Given the description of an element on the screen output the (x, y) to click on. 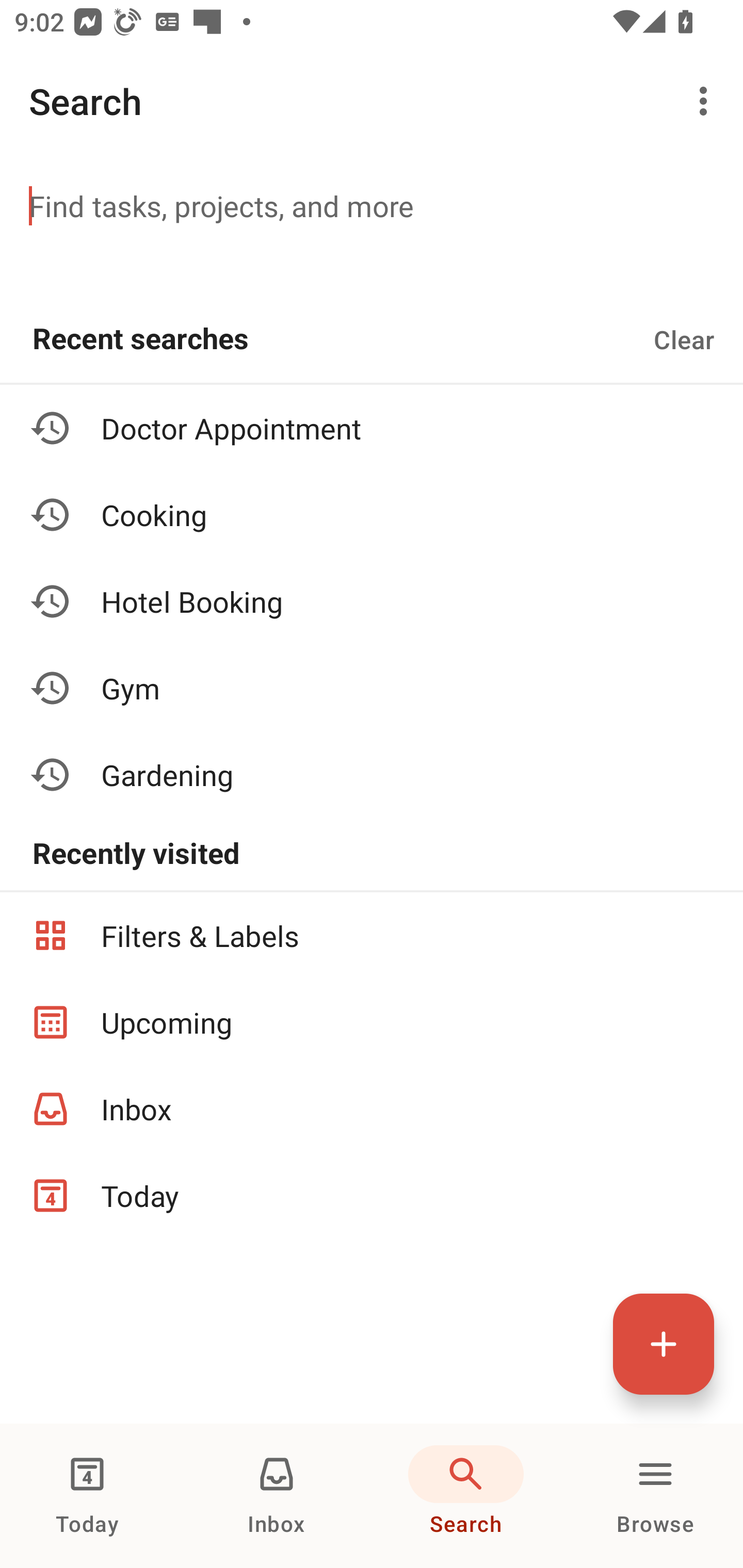
Search More options (371, 100)
More options (706, 101)
Find tasks, projects, and more (371, 205)
Clear (683, 339)
Doctor Appointment (371, 427)
Cooking (371, 514)
Hotel Booking (371, 601)
Gym (371, 687)
Gardening (371, 774)
Filters & Labels (371, 935)
Upcoming (371, 1022)
Inbox (371, 1109)
Today (371, 1195)
Quick add (663, 1343)
Today (87, 1495)
Inbox (276, 1495)
Browse (655, 1495)
